Given the description of an element on the screen output the (x, y) to click on. 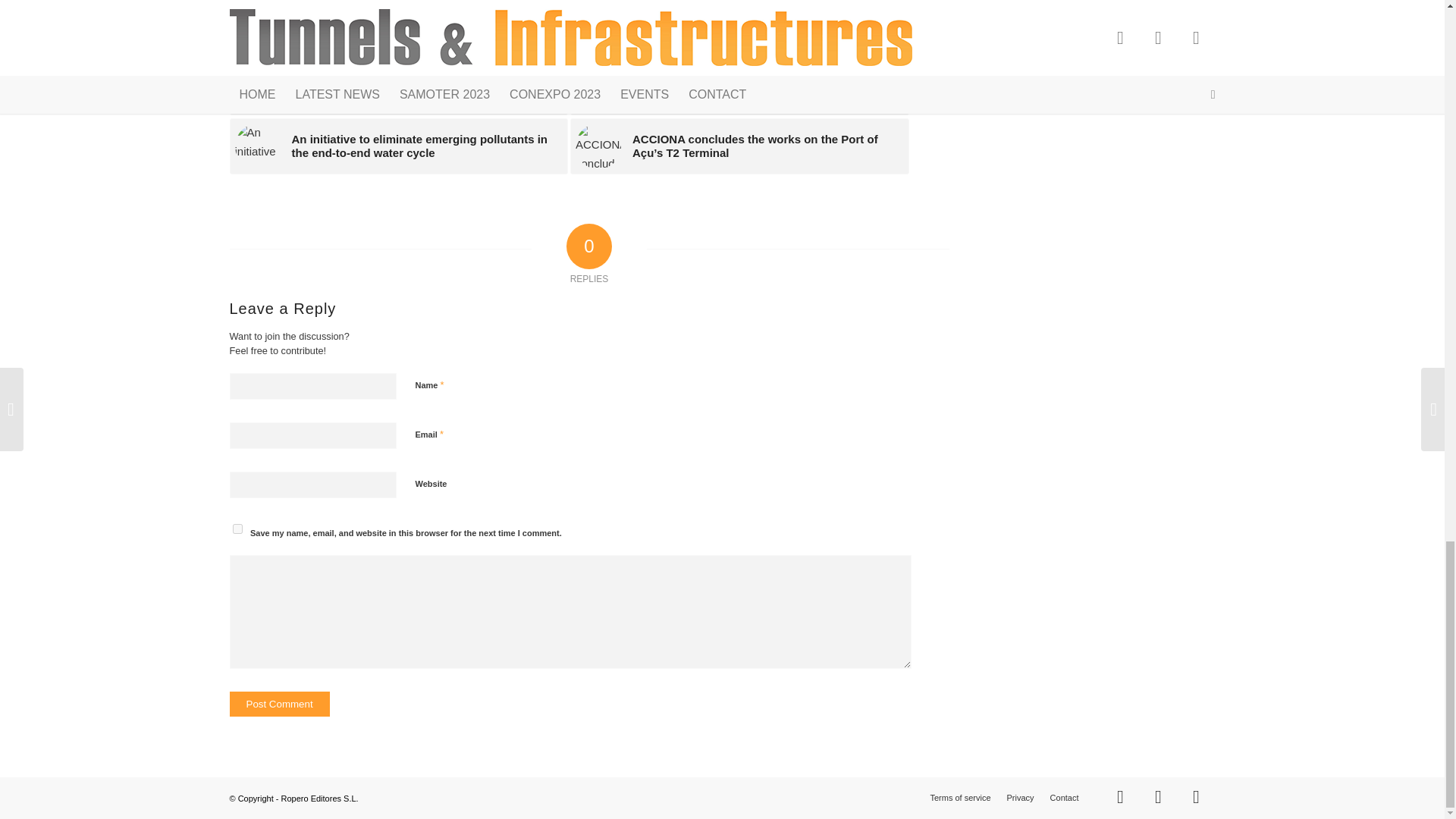
Post Comment (278, 703)
yes (236, 528)
La Chira WWTP in Peru, has been operational for five years (739, 86)
1 (423, 560)
Post Comment (278, 703)
